Given the description of an element on the screen output the (x, y) to click on. 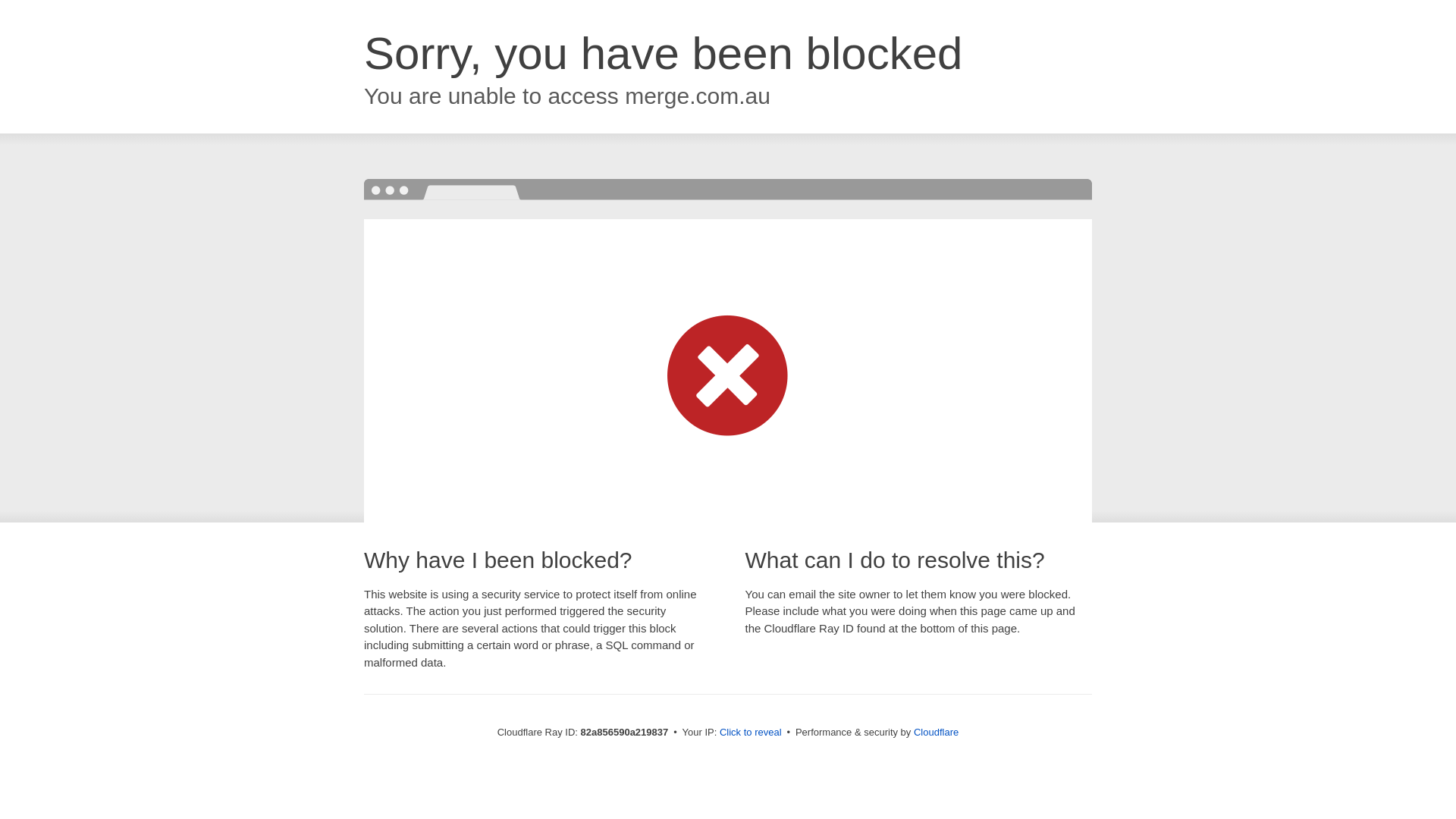
Click to reveal Element type: text (750, 732)
Cloudflare Element type: text (935, 731)
